Given the description of an element on the screen output the (x, y) to click on. 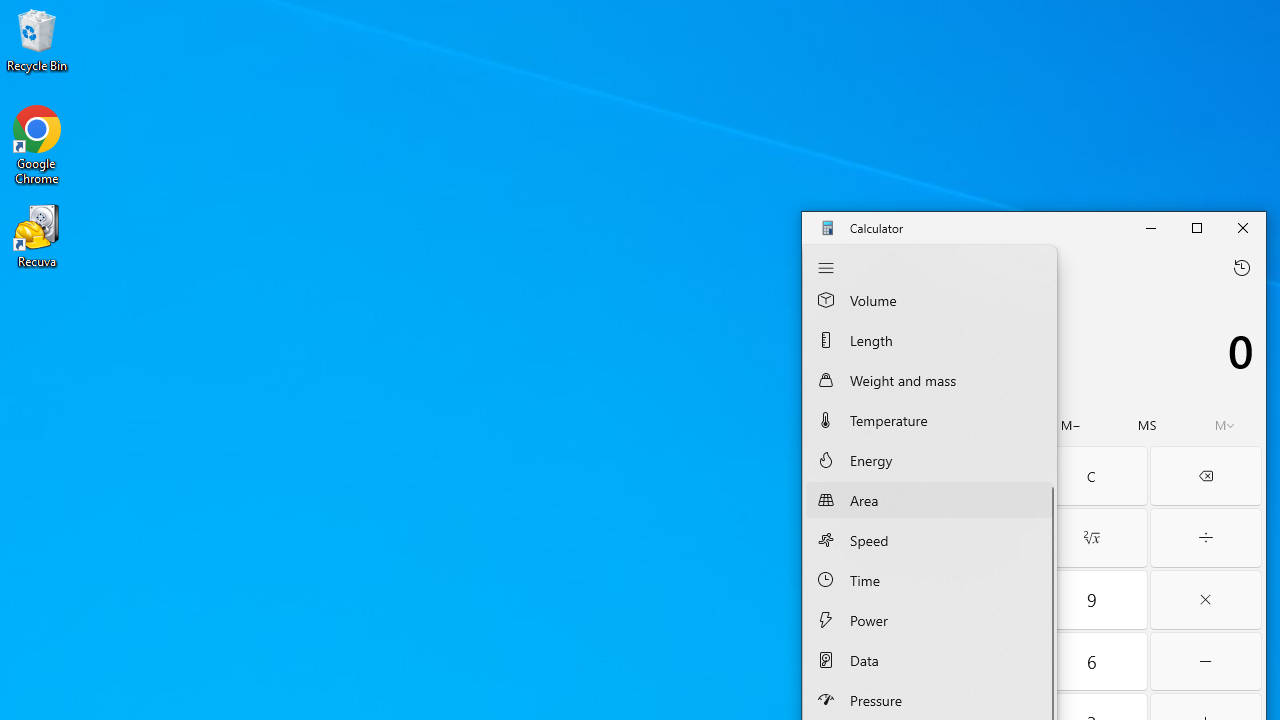
Backspace (1205, 475)
Weight and mass Converter (929, 380)
Minus (1205, 661)
Memory subtract (1071, 425)
Minimize Calculator (1150, 227)
Percent (862, 475)
Temperature Converter (929, 419)
Data Converter (929, 660)
Power Converter (929, 619)
Divide by (1205, 538)
Time Converter (929, 580)
Keep on top (958, 267)
Memory store (1147, 425)
Energy Converter (929, 460)
Close Navigation (826, 267)
